Given the description of an element on the screen output the (x, y) to click on. 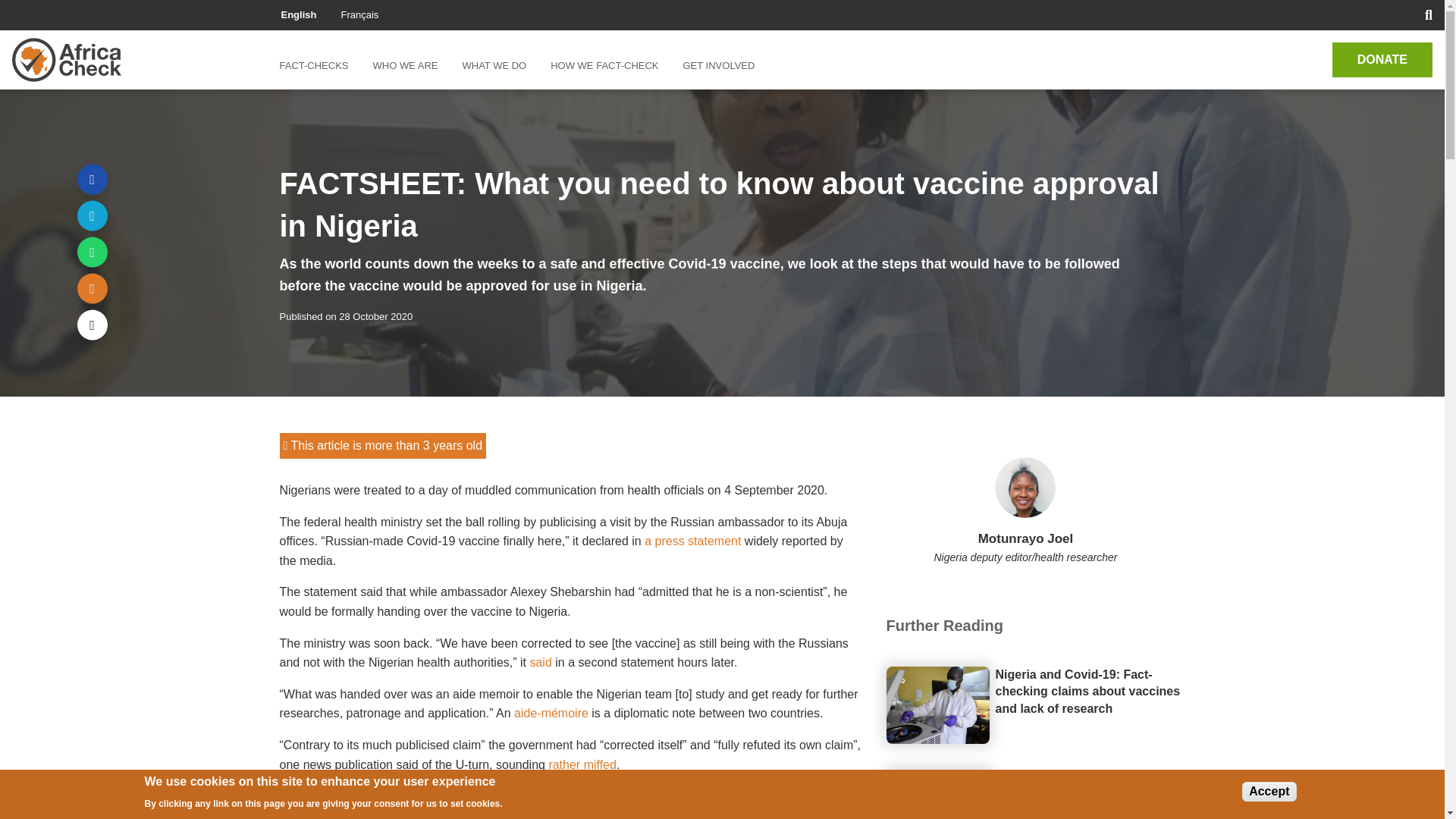
DONATE (1382, 59)
English (298, 14)
WHO WE ARE (405, 65)
HOW WE FACT-CHECK (603, 65)
GET INVOLVED (718, 65)
WHAT WE DO (493, 65)
FACT-CHECKS (319, 65)
